Given the description of an element on the screen output the (x, y) to click on. 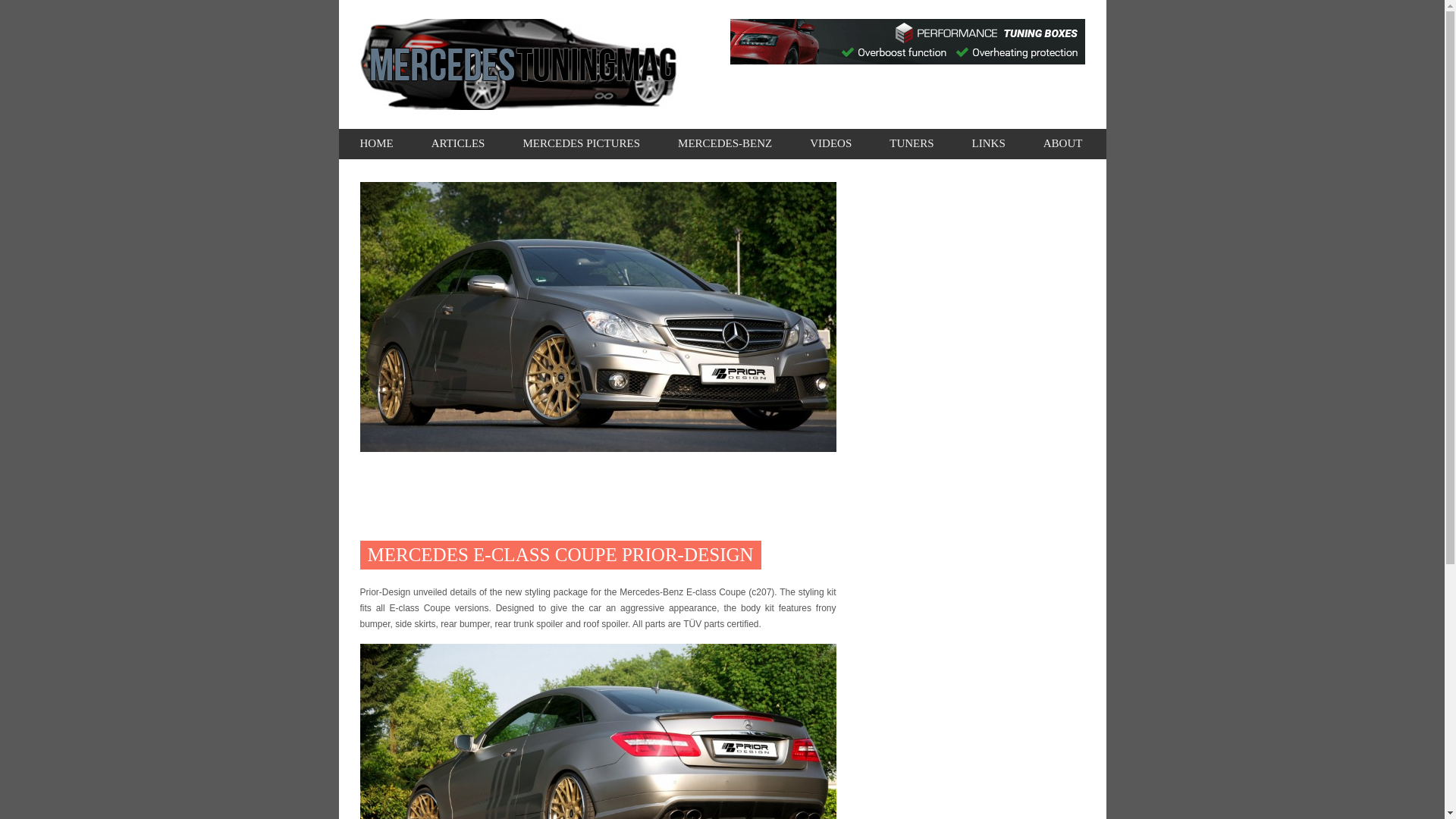
TUNERS (911, 143)
VIDEOS (830, 143)
LINKS (989, 143)
Mercedes Tuning (376, 143)
MERCEDES-BENZ (724, 143)
MERCEDES PICTURES (581, 143)
ARTICLES (457, 143)
ABOUT (1063, 143)
HOME (376, 143)
Mercedes Tuning news (457, 143)
